Given the description of an element on the screen output the (x, y) to click on. 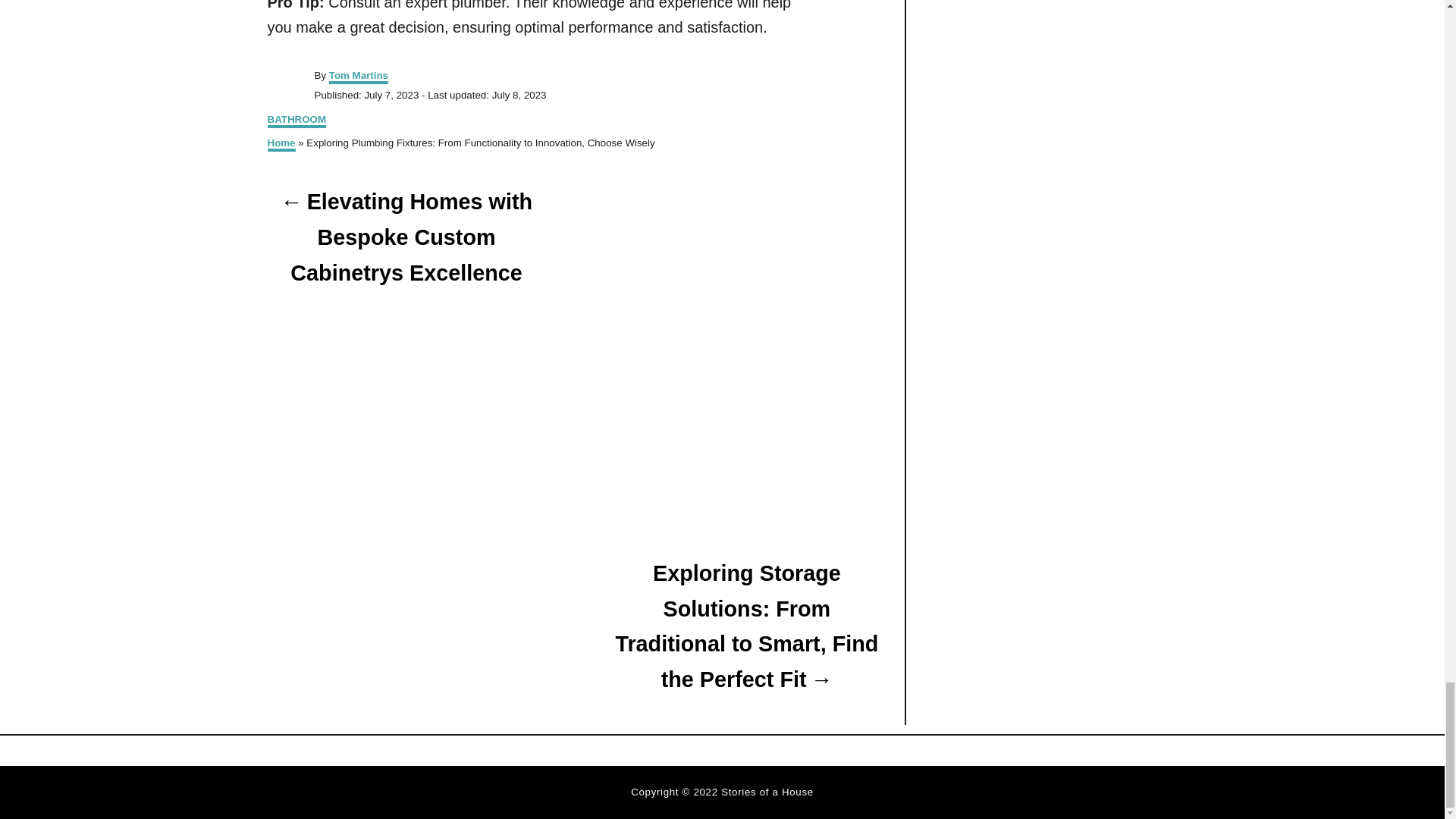
Tom Martins (358, 76)
Elevating Homes with Bespoke Custom Cabinetrys Excellence (405, 237)
BATHROOM (296, 120)
Home (280, 144)
